Given the description of an element on the screen output the (x, y) to click on. 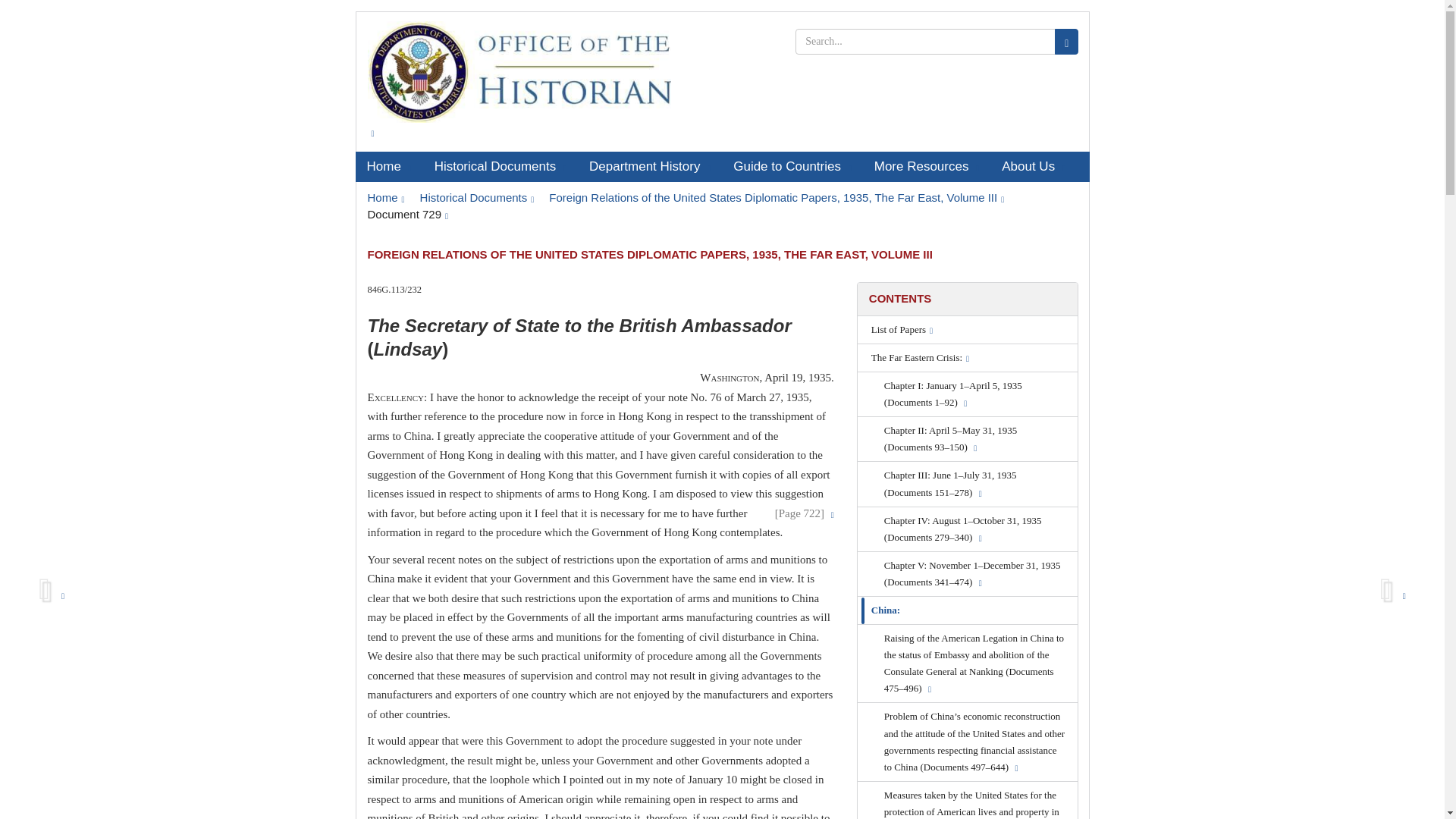
About Us (1033, 166)
More Resources (926, 166)
Guide to Countries (792, 166)
Home (385, 196)
Historical Documents (500, 166)
Document 729 (407, 214)
Historical Documents (477, 196)
Department History (650, 166)
Home (388, 166)
